Given the description of an element on the screen output the (x, y) to click on. 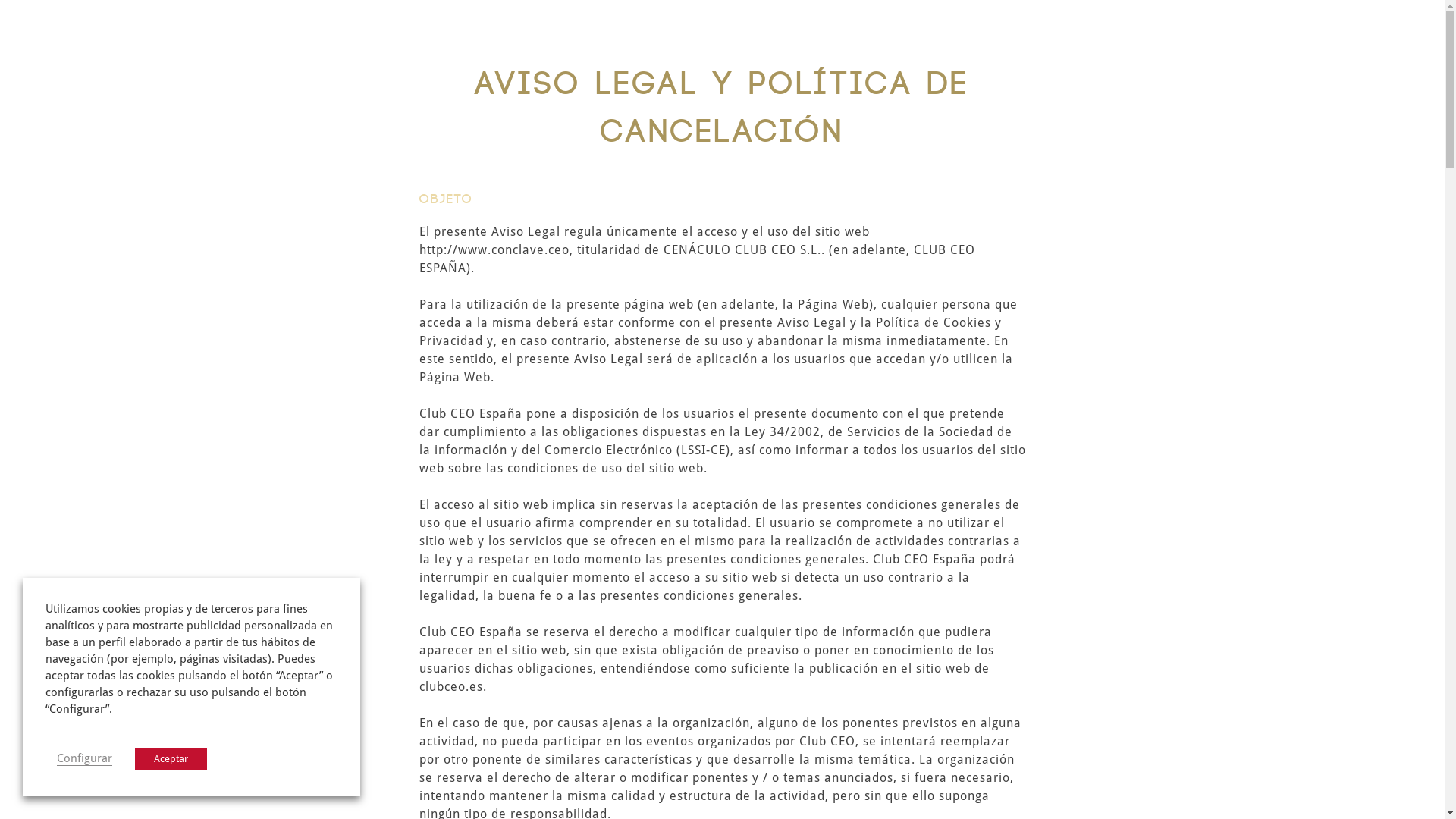
Configurar Element type: text (84, 758)
Aceptar Element type: text (170, 758)
